Given the description of an element on the screen output the (x, y) to click on. 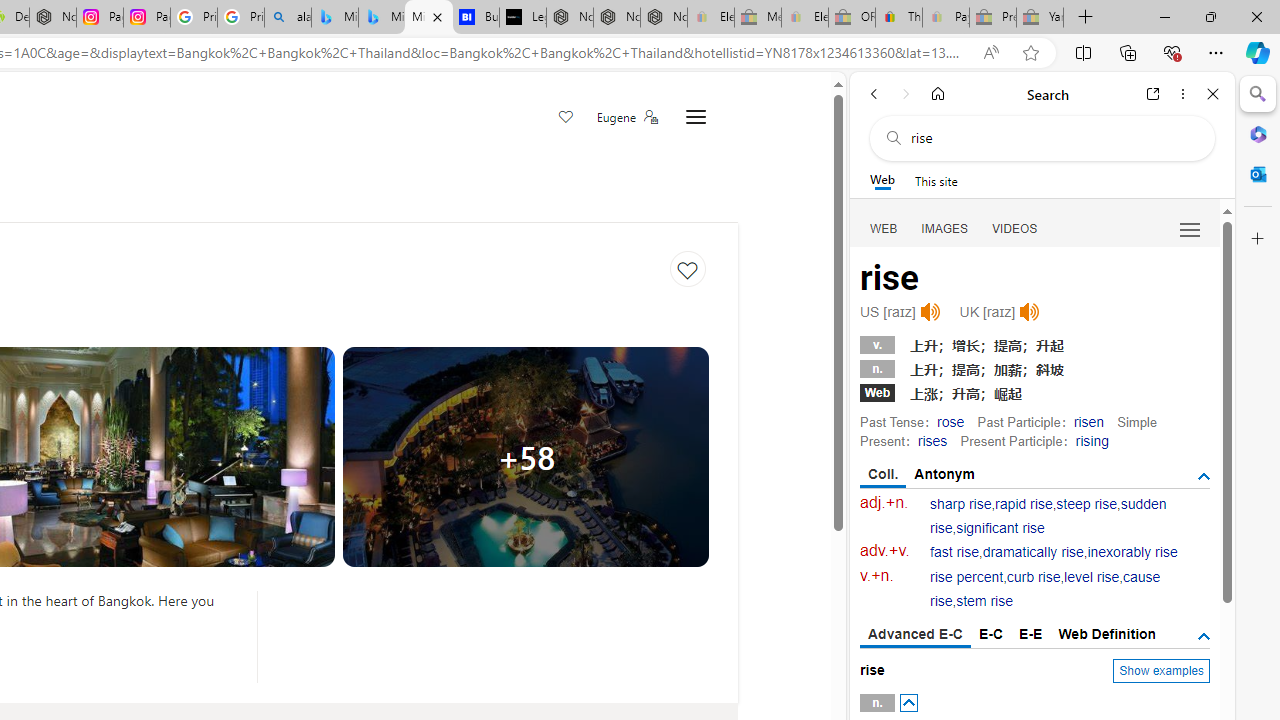
E-E (1030, 633)
sharp rise (961, 503)
dramatically rise (1032, 552)
inexorably rise (1131, 552)
Eugene (626, 117)
steep rise (1086, 503)
Click to listen (1029, 312)
